Given the description of an element on the screen output the (x, y) to click on. 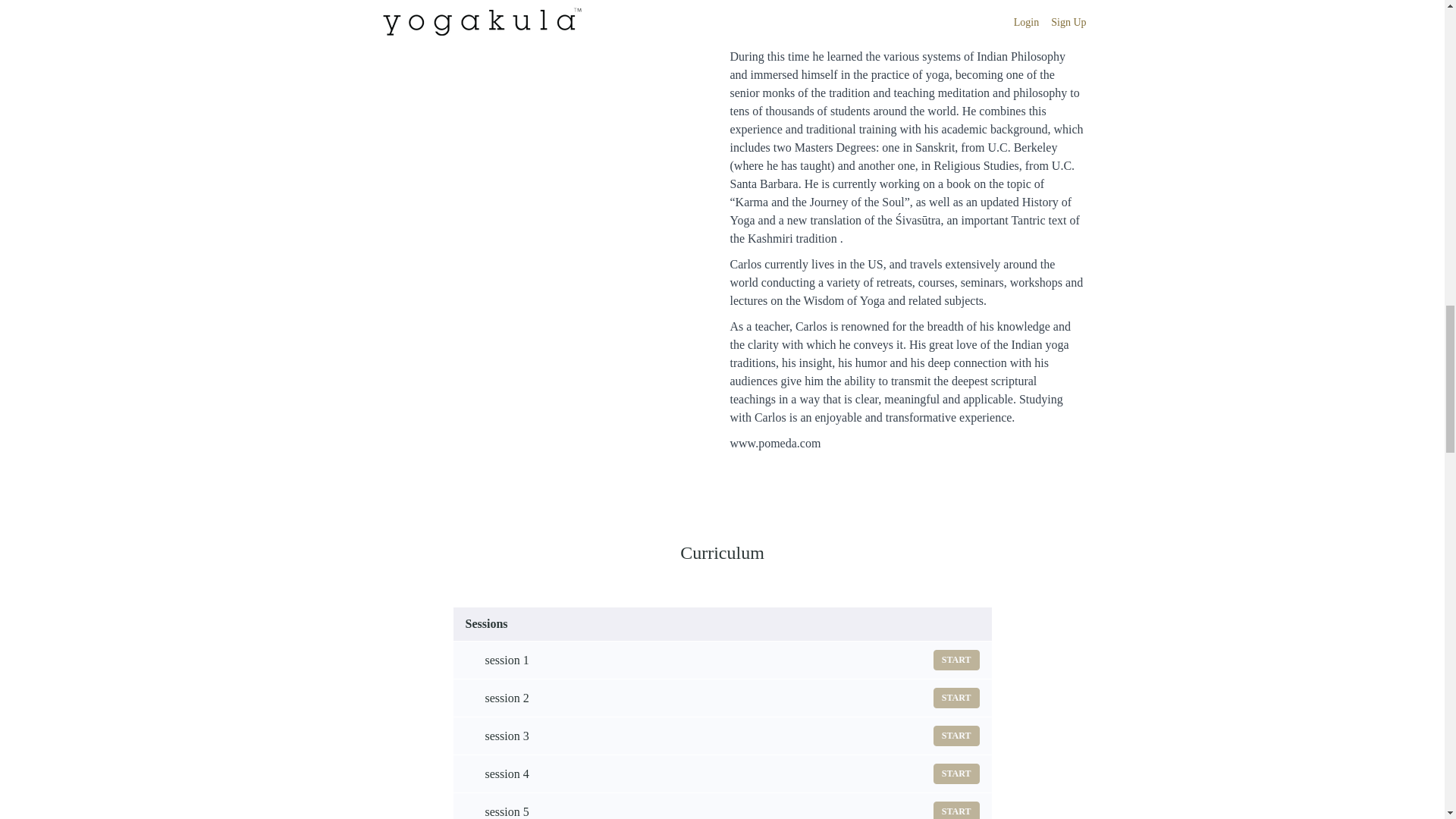
START (956, 735)
START (956, 660)
START (721, 659)
START (721, 697)
START (956, 697)
